Given the description of an element on the screen output the (x, y) to click on. 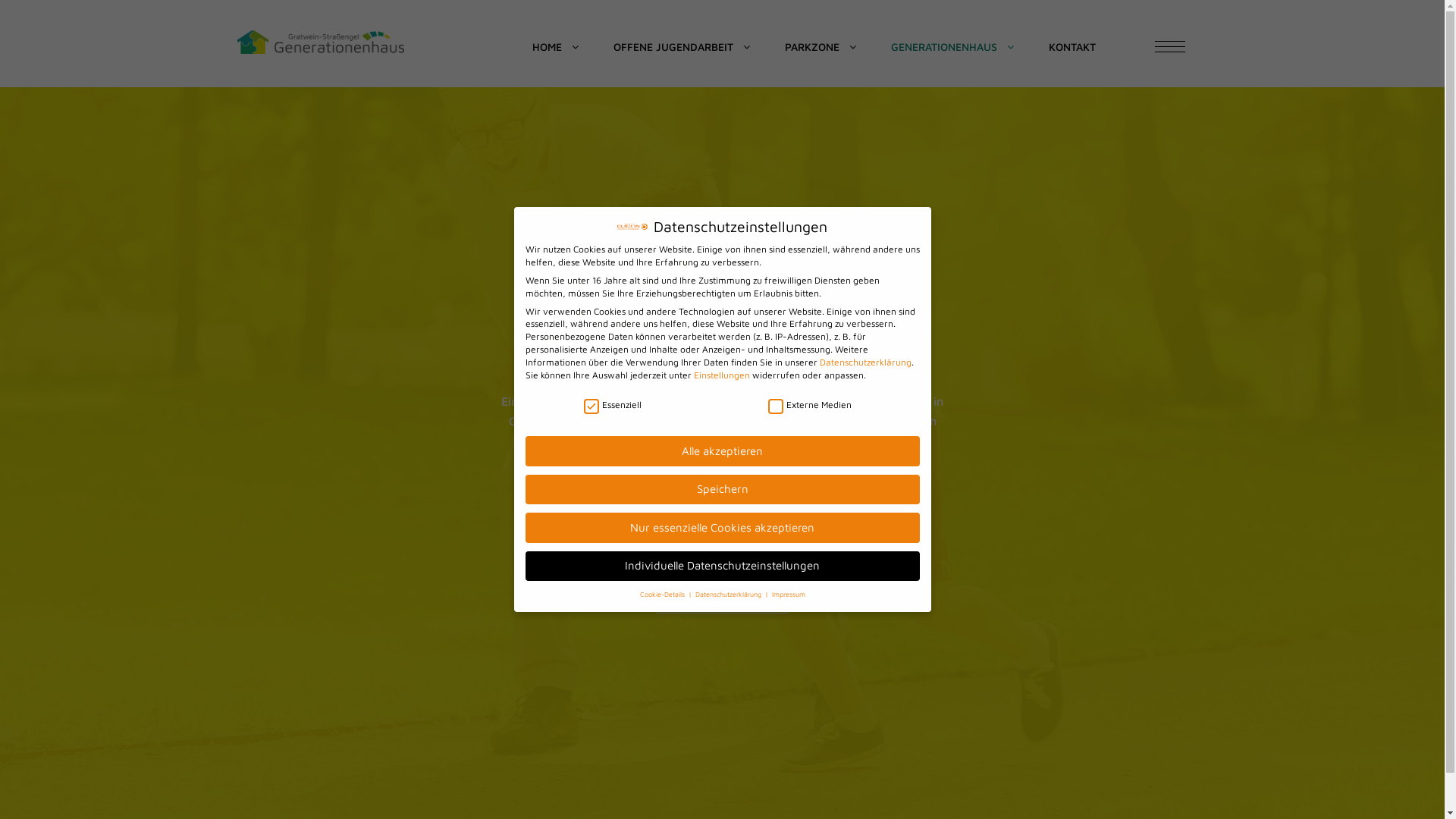
Speichern Element type: text (721, 489)
OFFENE JUGENDARBEIT Element type: text (680, 46)
HOME Element type: text (555, 46)
Einstellungen Element type: text (721, 374)
GENERATIONENHAUS Element type: text (951, 46)
KONTAKT Element type: text (1071, 46)
ZU DEN TERMINEN Element type: text (722, 563)
Cookie-Details Element type: text (663, 593)
PARKZONE Element type: text (819, 46)
Alle akzeptieren Element type: text (721, 450)
Nur essenzielle Cookies akzeptieren Element type: text (721, 527)
GENERATIONENHAUS Element type: hover (319, 41)
Individuelle Datenschutzeinstellungen Element type: text (721, 565)
Impressum Element type: text (788, 593)
